Given the description of an element on the screen output the (x, y) to click on. 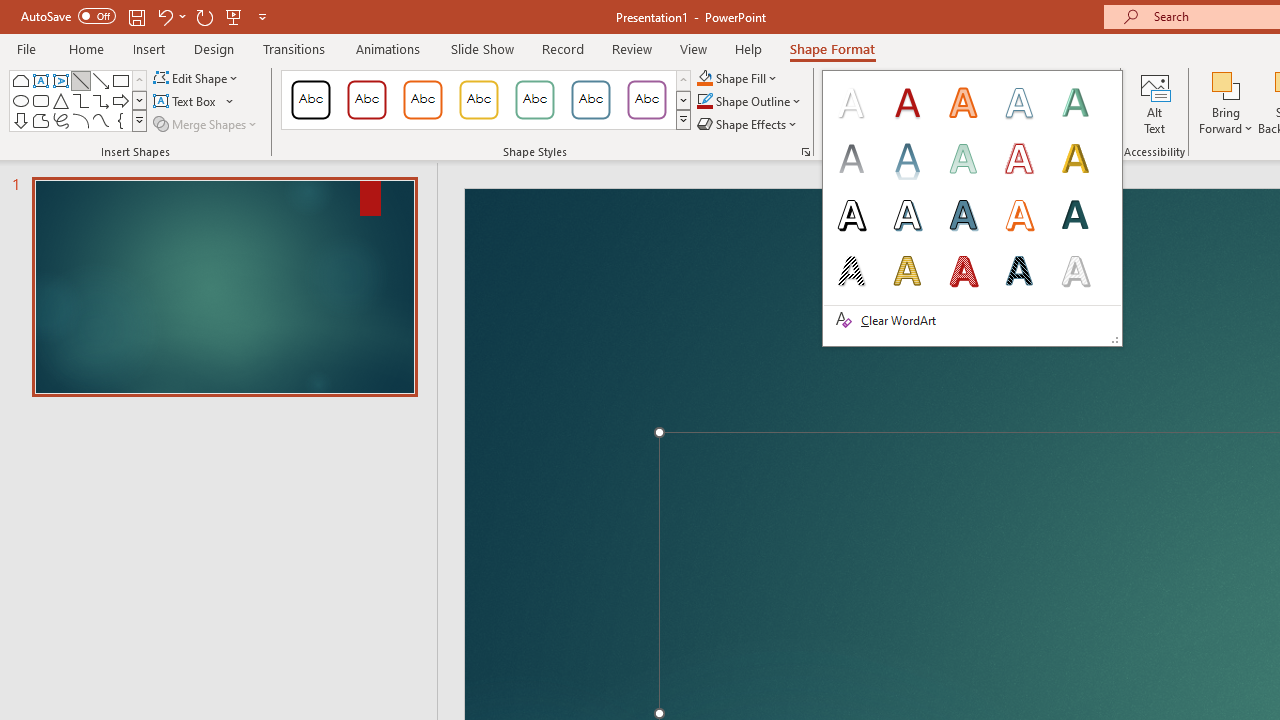
Edit Shape (196, 78)
Class: Net UI Tool Window (971, 208)
Colored Outline - Black, Dark 1 (310, 100)
Colored Outline - Orange, Accent 2 (422, 100)
Colored Outline - Dark Red, Accent 1 (367, 100)
